Given the description of an element on the screen output the (x, y) to click on. 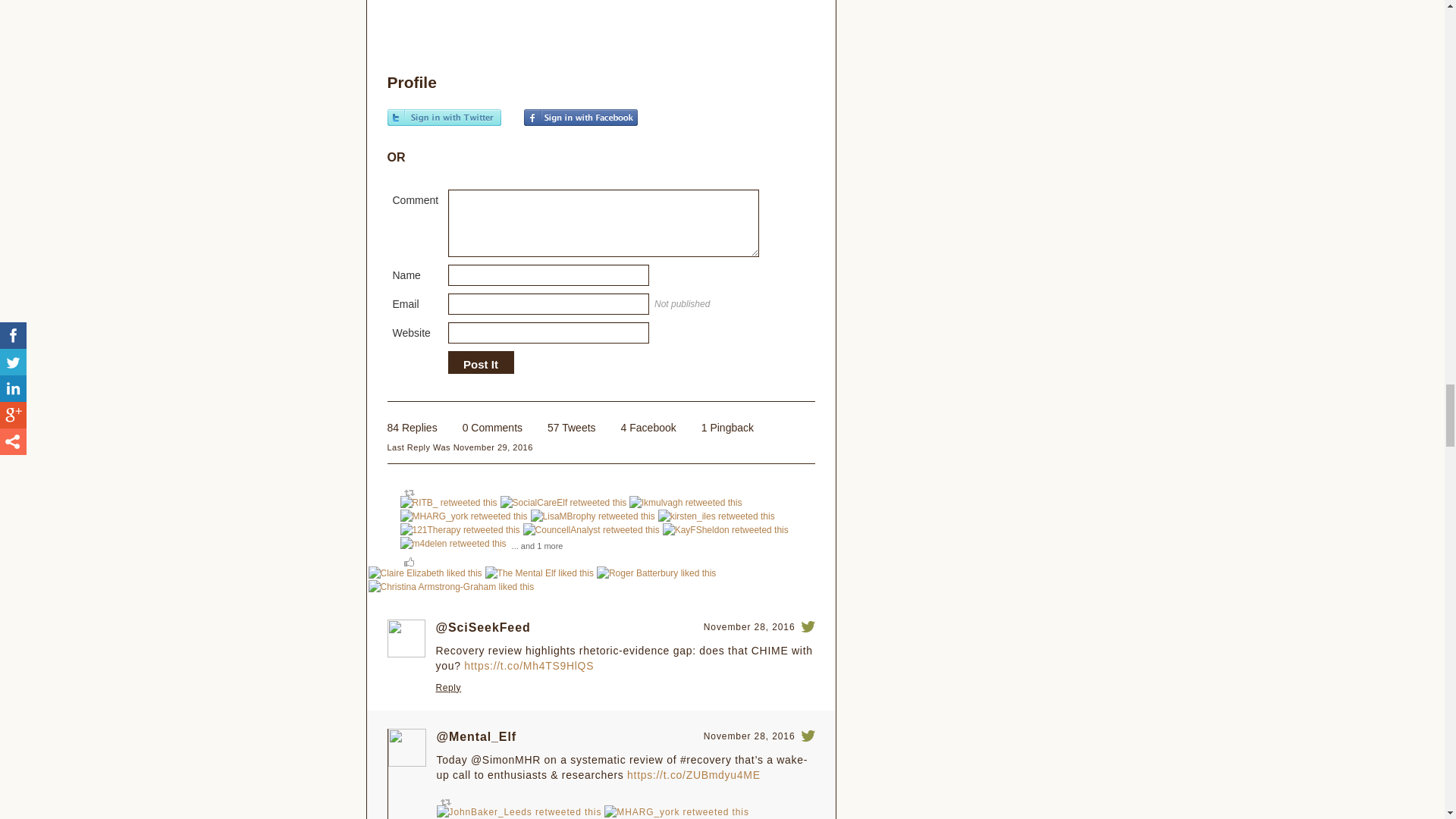
Post It (479, 364)
